Given the description of an element on the screen output the (x, y) to click on. 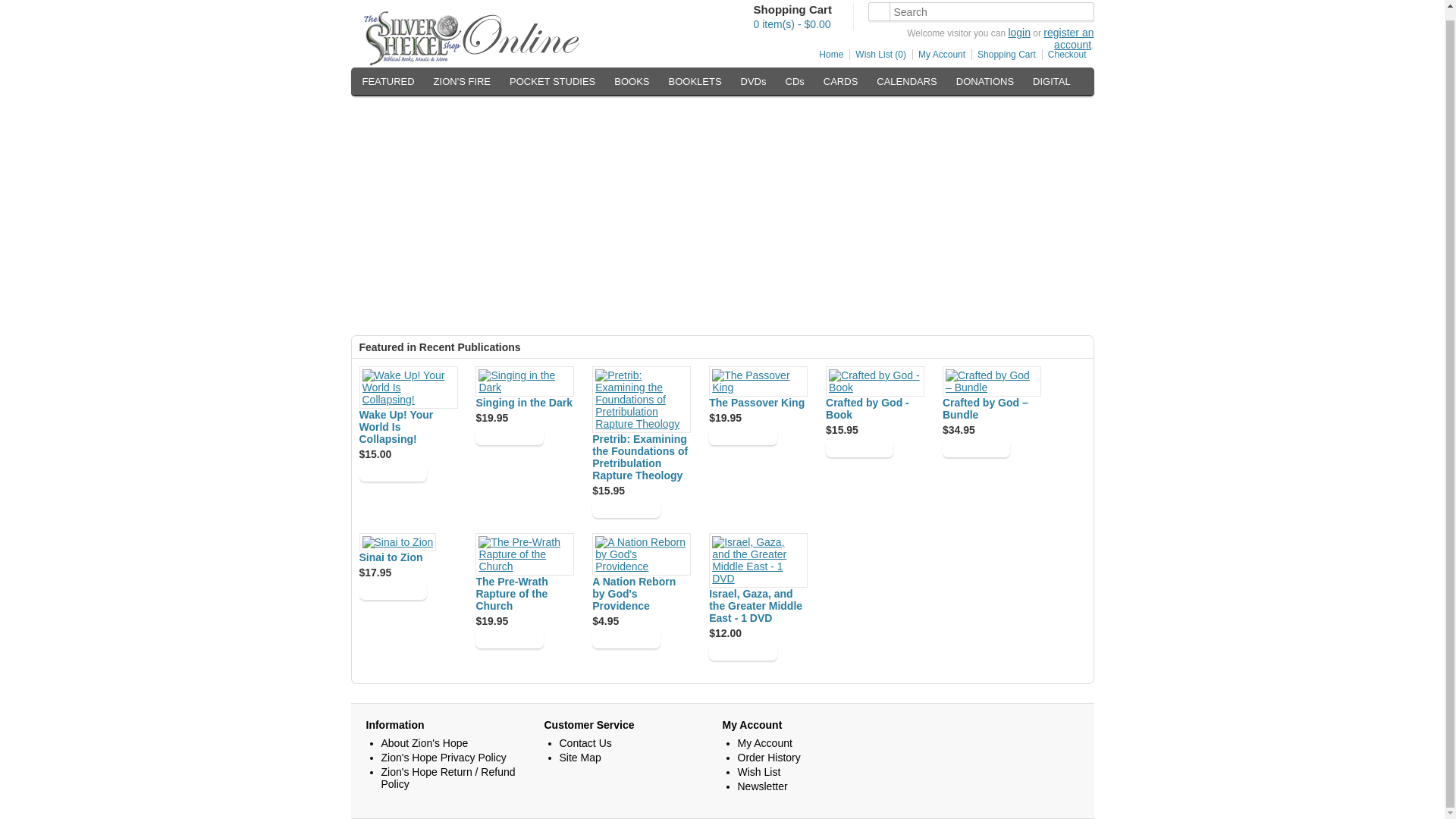
Shopping Cart (1003, 54)
Add to Cart (625, 508)
FEATURED (388, 81)
login (1018, 32)
CDs (794, 81)
BOOKS (631, 81)
Home (828, 54)
CARDS (840, 81)
Add to Cart (976, 447)
Add to Cart (509, 435)
